Given the description of an element on the screen output the (x, y) to click on. 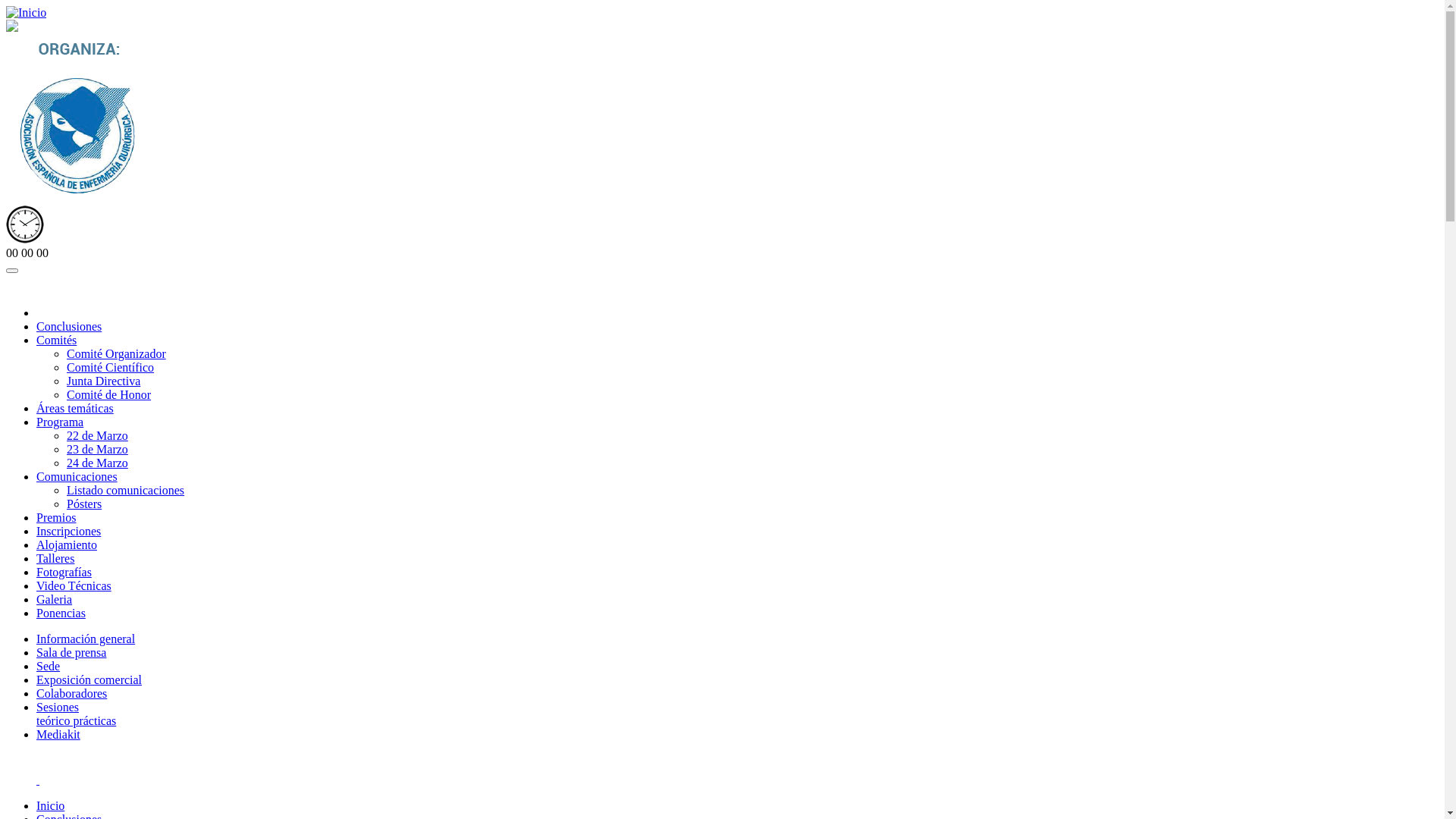
Colaboradores Element type: text (71, 693)
23 de Marzo Element type: text (97, 448)
Talleres Element type: text (55, 558)
Conclusiones Element type: text (68, 326)
Listado comunicaciones Element type: text (125, 489)
Ponencias Element type: text (60, 612)
Programa Element type: text (59, 421)
Inicio Element type: hover (26, 12)
22 de Marzo Element type: text (97, 435)
Sede Element type: text (47, 665)
Alojamiento Element type: text (66, 544)
Comunicaciones Element type: text (76, 476)
Galeria Element type: text (54, 599)
Mediakit Element type: text (58, 734)
Premios Element type: text (55, 517)
Sala de prensa Element type: text (71, 652)
24 de Marzo Element type: text (97, 462)
Inscripciones Element type: text (68, 530)
Junta Directiva Element type: text (103, 380)
Inicio Element type: text (50, 805)
